Given the description of an element on the screen output the (x, y) to click on. 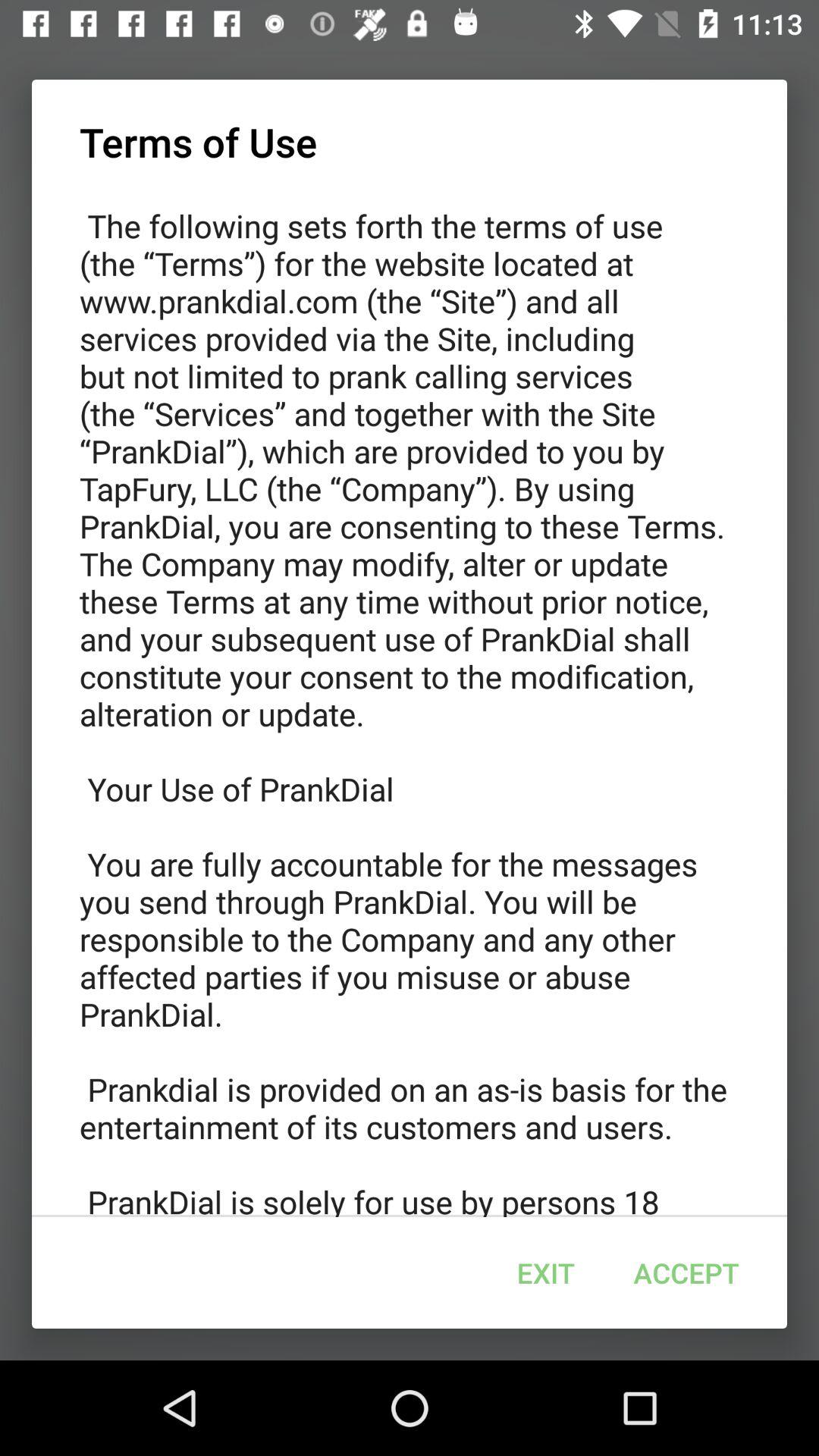
launch accept (686, 1272)
